Given the description of an element on the screen output the (x, y) to click on. 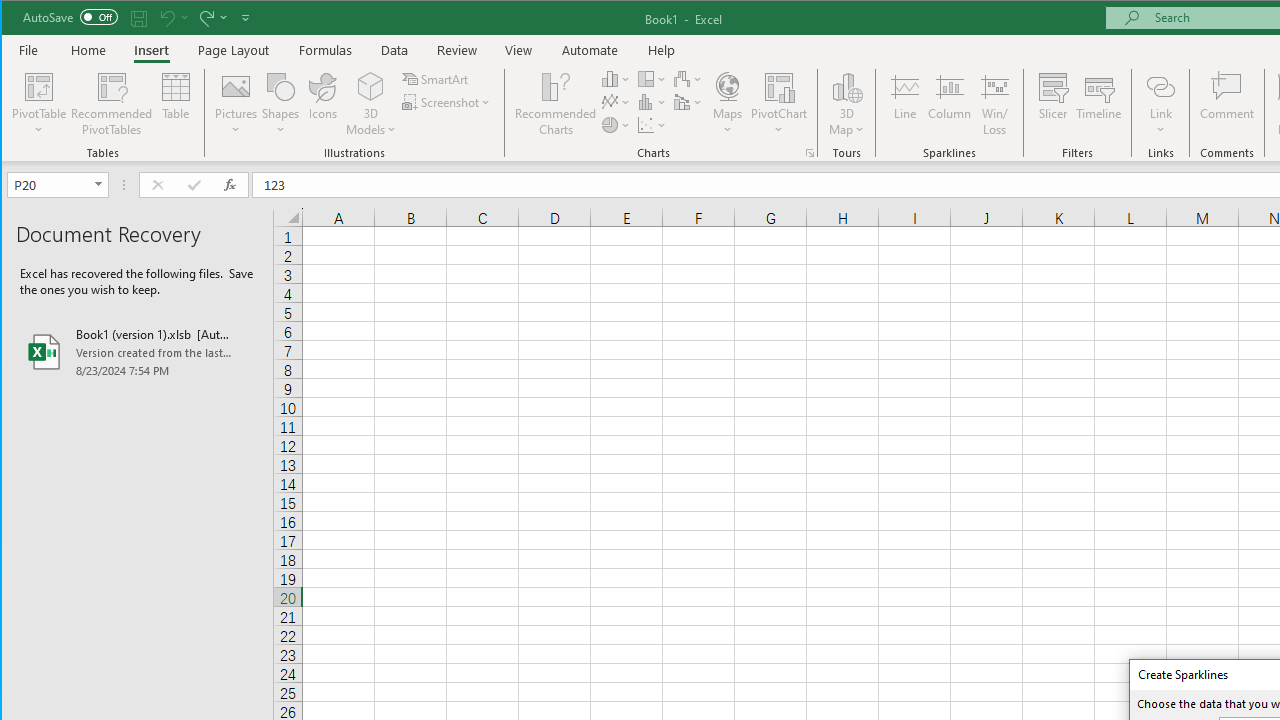
Recommended Charts (809, 152)
PivotChart (779, 86)
Slicer... (1052, 104)
Comment (1227, 104)
Link (1160, 86)
3D Map (846, 86)
Line (904, 104)
Win/Loss (995, 104)
